Given the description of an element on the screen output the (x, y) to click on. 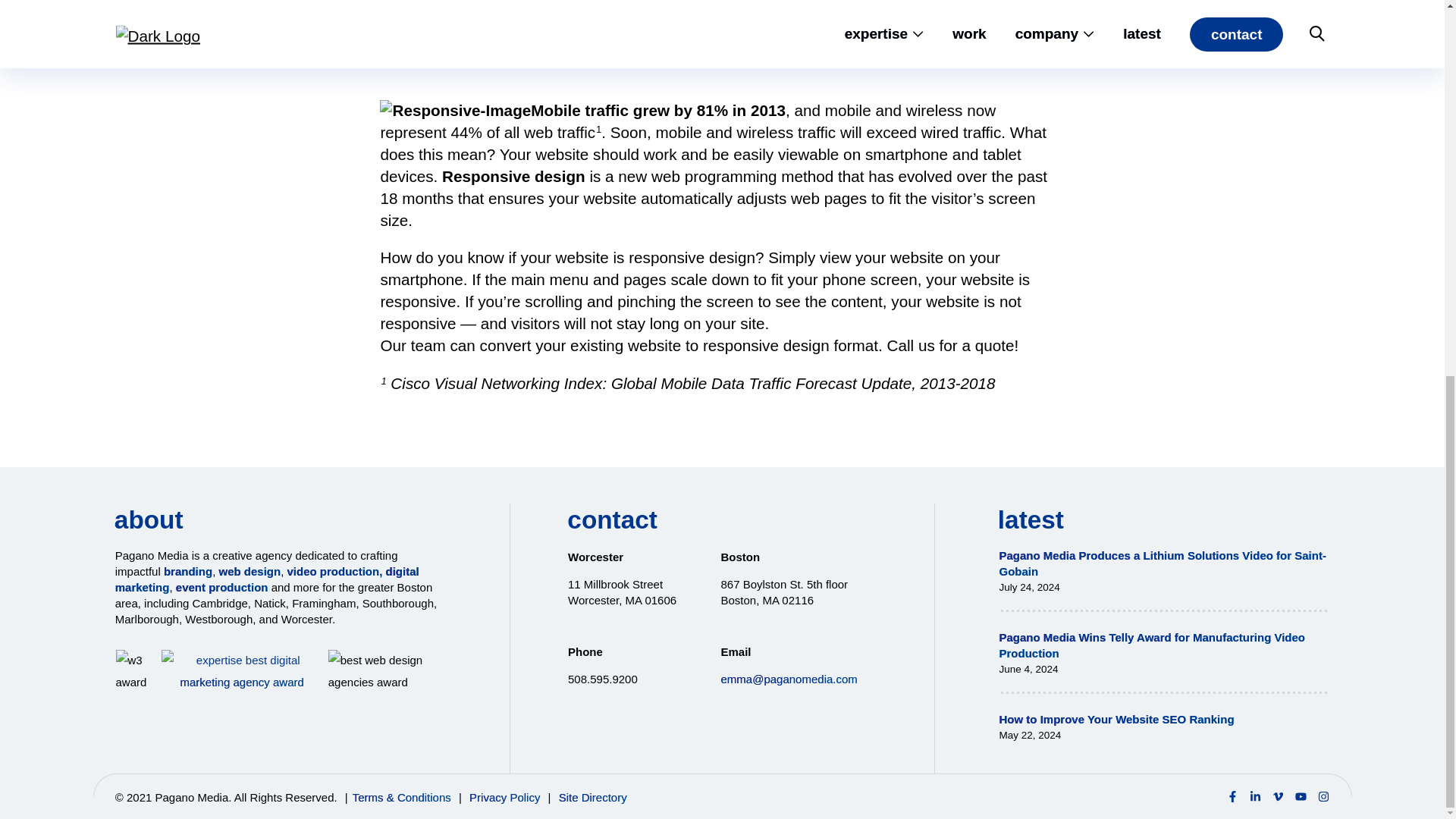
event production (221, 586)
branding (187, 571)
video production, (333, 571)
web design (249, 571)
Site Directory (593, 797)
Privacy Policy (504, 797)
digital marketing (267, 579)
How to Improve Your Website SEO Ranking (1116, 718)
